Given the description of an element on the screen output the (x, y) to click on. 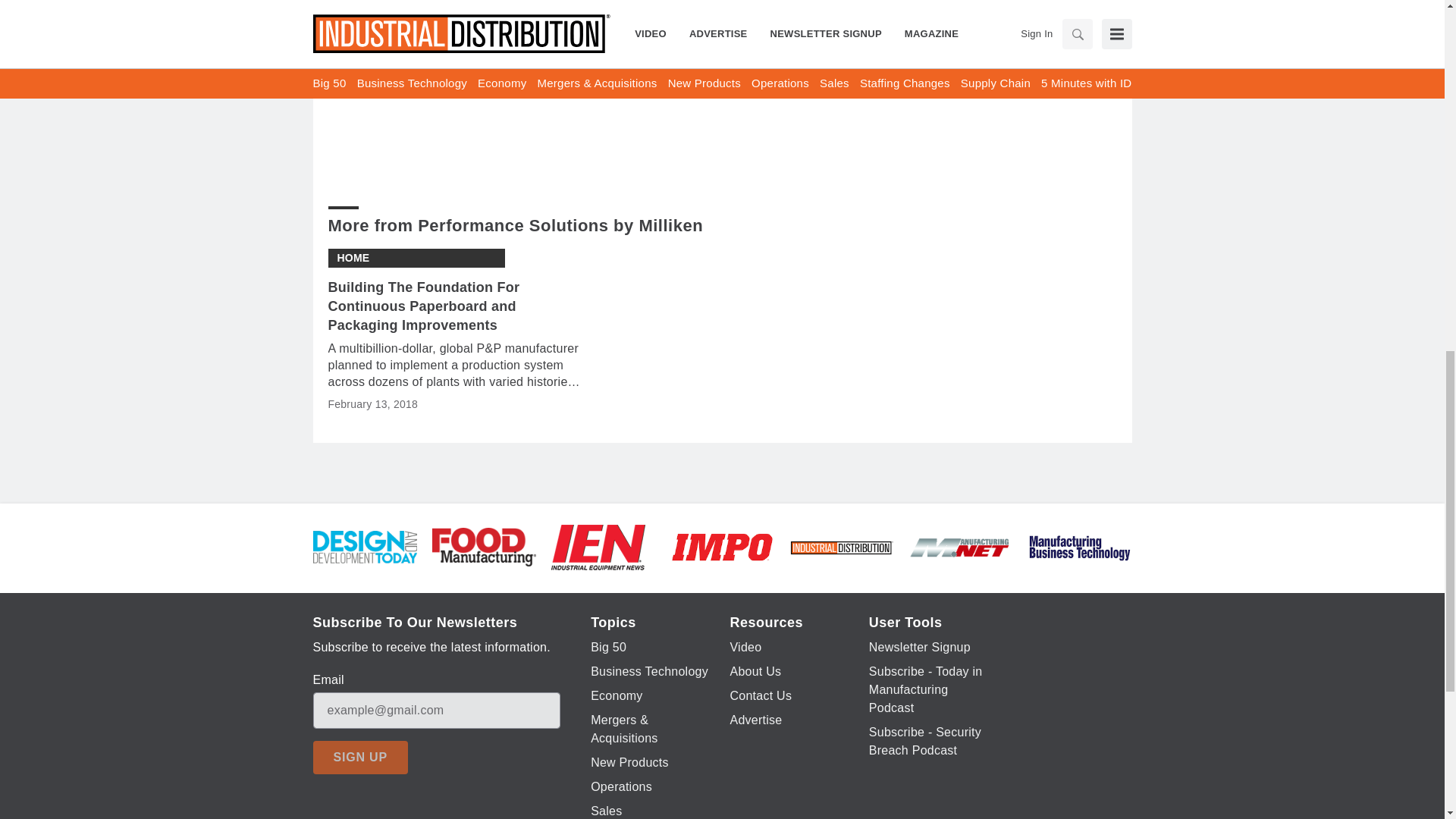
Visit Industrial Distribution (841, 546)
Visit Food Manufacturing (483, 545)
Home (352, 258)
Visit Manufacturing.net (959, 545)
Visit IMPO (721, 545)
Visit Manufacturing Business Technology (1079, 545)
